Given the description of an element on the screen output the (x, y) to click on. 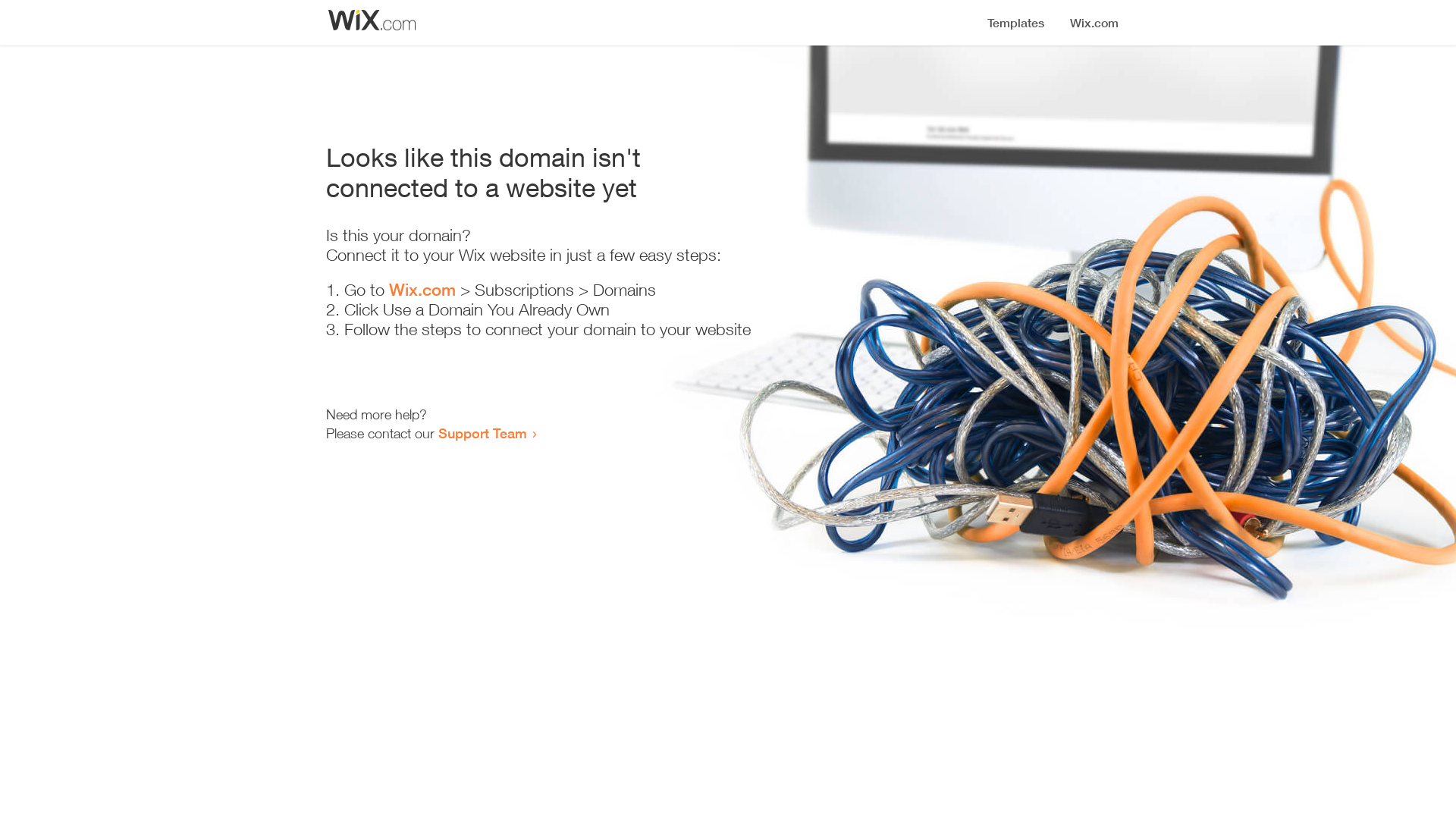
Support Team Element type: text (482, 432)
Wix.com Element type: text (422, 289)
